Given the description of an element on the screen output the (x, y) to click on. 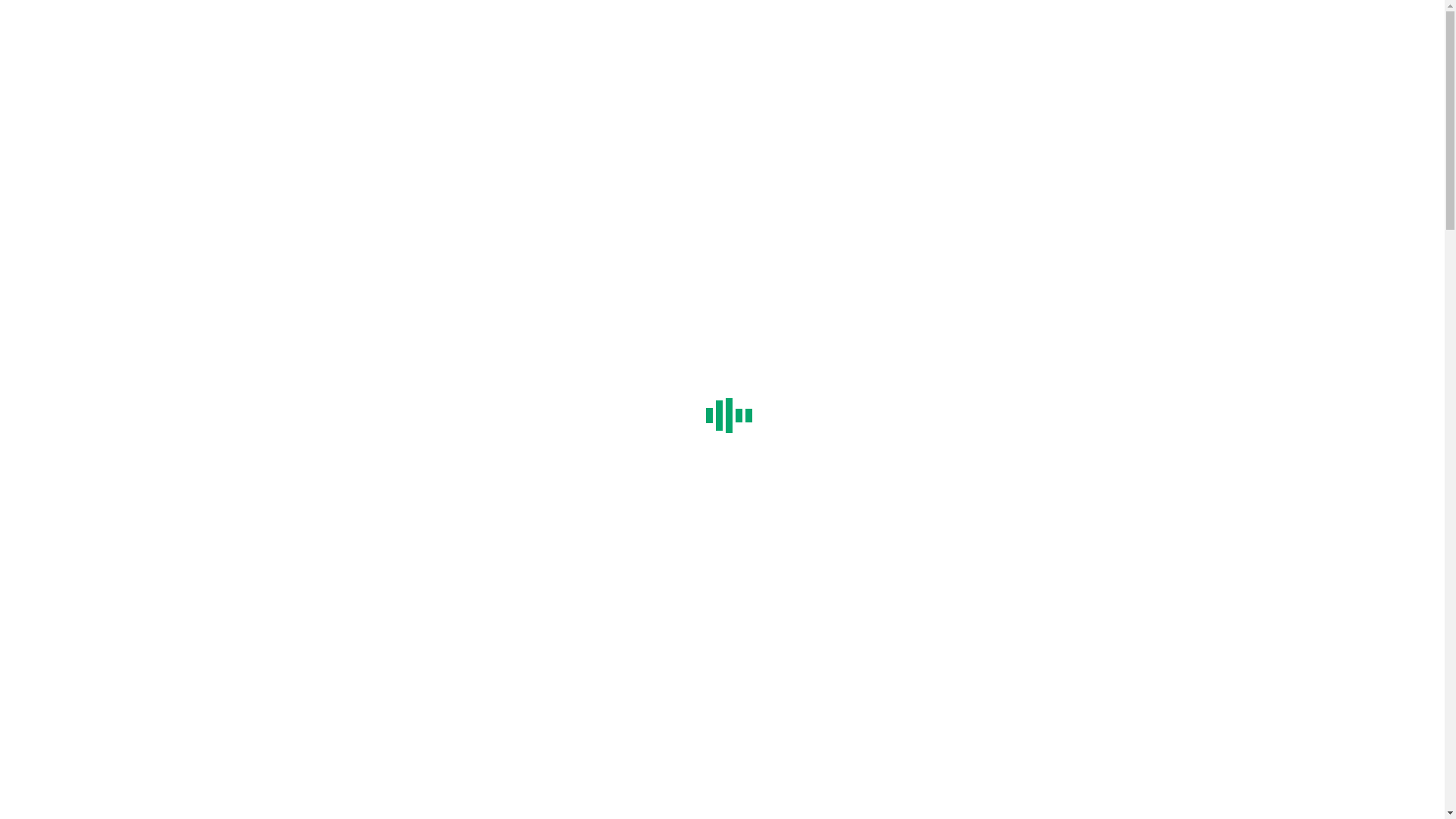
Go! Element type: text (790, 782)
Wholesale Element type: text (61, 334)
Bodega Element type: text (54, 281)
About Element type: text (51, 226)
Online Shop Element type: text (66, 307)
Blog Element type: text (47, 549)
Contact Element type: text (55, 577)
Deli Element type: text (46, 267)
Blog Element type: text (47, 320)
Home Element type: text (50, 399)
Our People Element type: text (93, 253)
Login Element type: text (20, 57)
Home Element type: text (50, 213)
Best Seller Element type: text (92, 495)
Online Shop Element type: text (66, 481)
Skip to content Element type: text (5, 5)
Wholesale Element type: text (61, 563)
Deli Element type: text (46, 454)
Bodega Element type: text (54, 467)
Our People Element type: text (93, 440)
Our Story Element type: text (90, 426)
$0.00 Element type: text (19, 43)
Home Element type: text (50, 677)
Go! Element type: text (20, 29)
Contact Element type: text (55, 348)
BooksOur selection of easy and delicious recipe books. Element type: text (200, 522)
Our Story Element type: text (90, 240)
Search form Element type: hover (73, 13)
About Element type: text (51, 413)
